Given the description of an element on the screen output the (x, y) to click on. 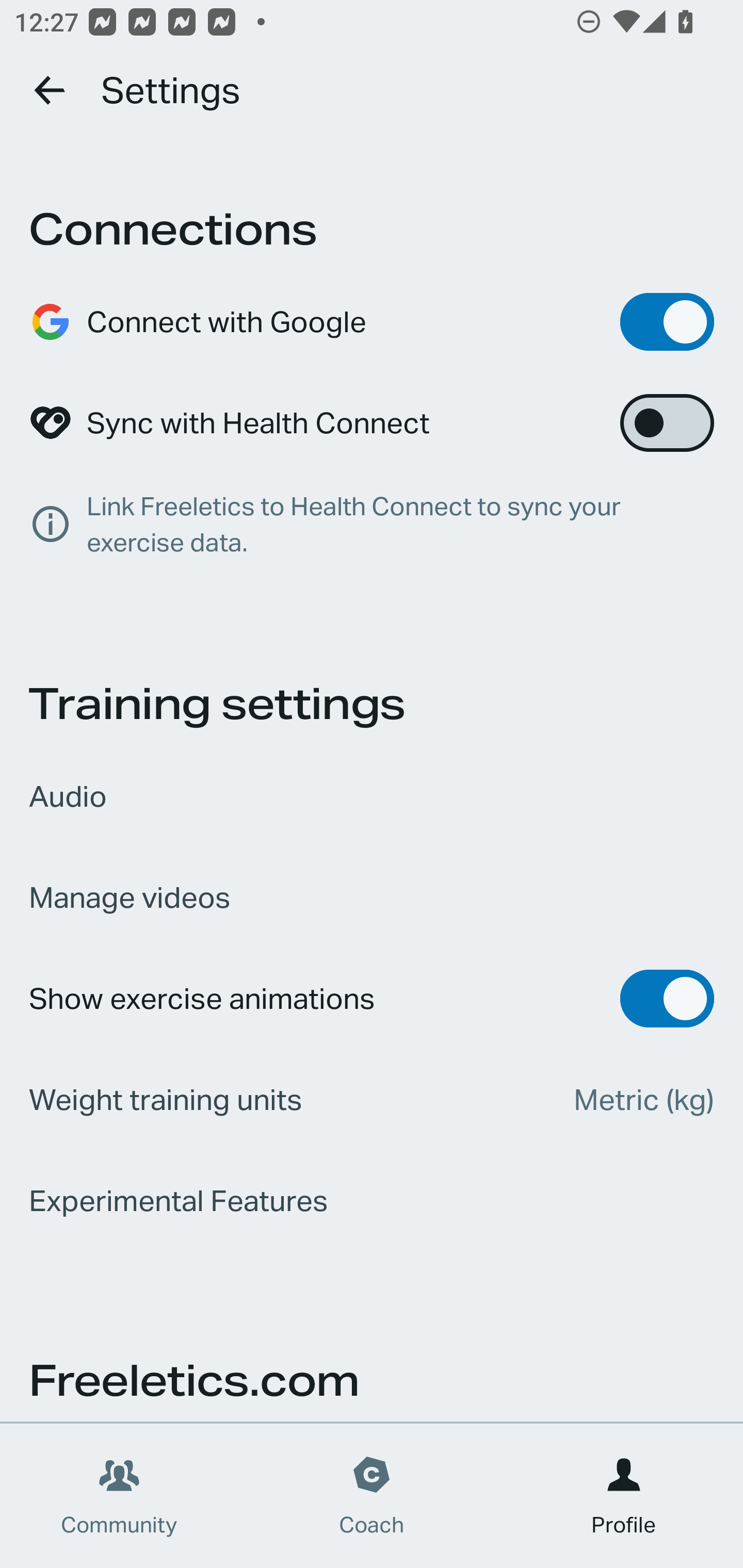
Go back (50, 90)
Connect with Google (371, 322)
Sync with Health Connect (371, 423)
Audio (371, 796)
Manage videos (371, 897)
Show exercise animations (371, 998)
Weight training units Metric (kg) (371, 1099)
Experimental Features (371, 1200)
Community (119, 1495)
Coach (371, 1495)
